Given the description of an element on the screen output the (x, y) to click on. 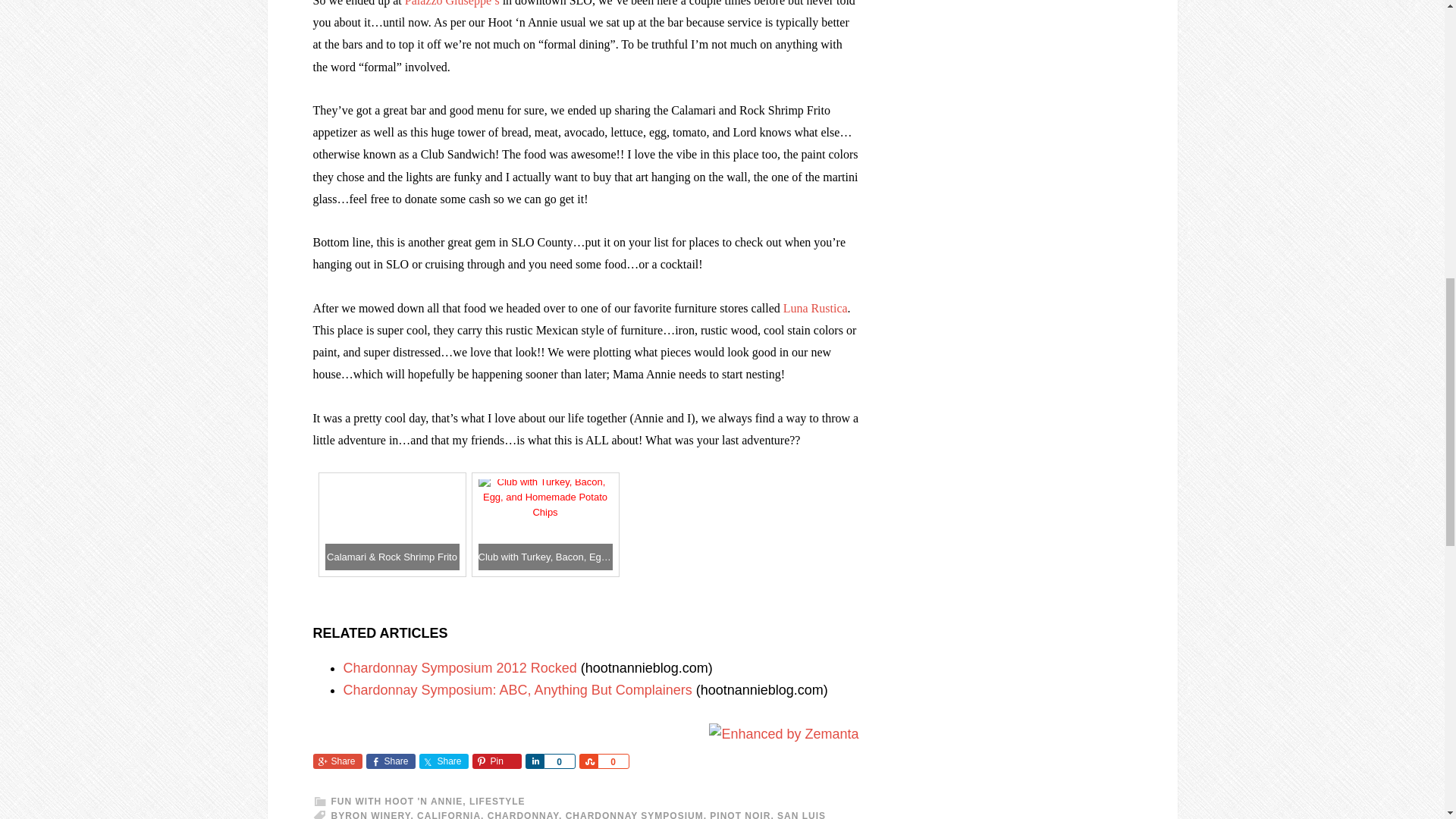
Club with Turkey, Bacon, Egg, and Homemade Potato Chips (545, 524)
Chardonnay Symposium: ABC, Anything But Complainers (516, 689)
Chardonnay Symposium 2012 Rocked (459, 667)
Luna Rustica (815, 308)
